Given the description of an element on the screen output the (x, y) to click on. 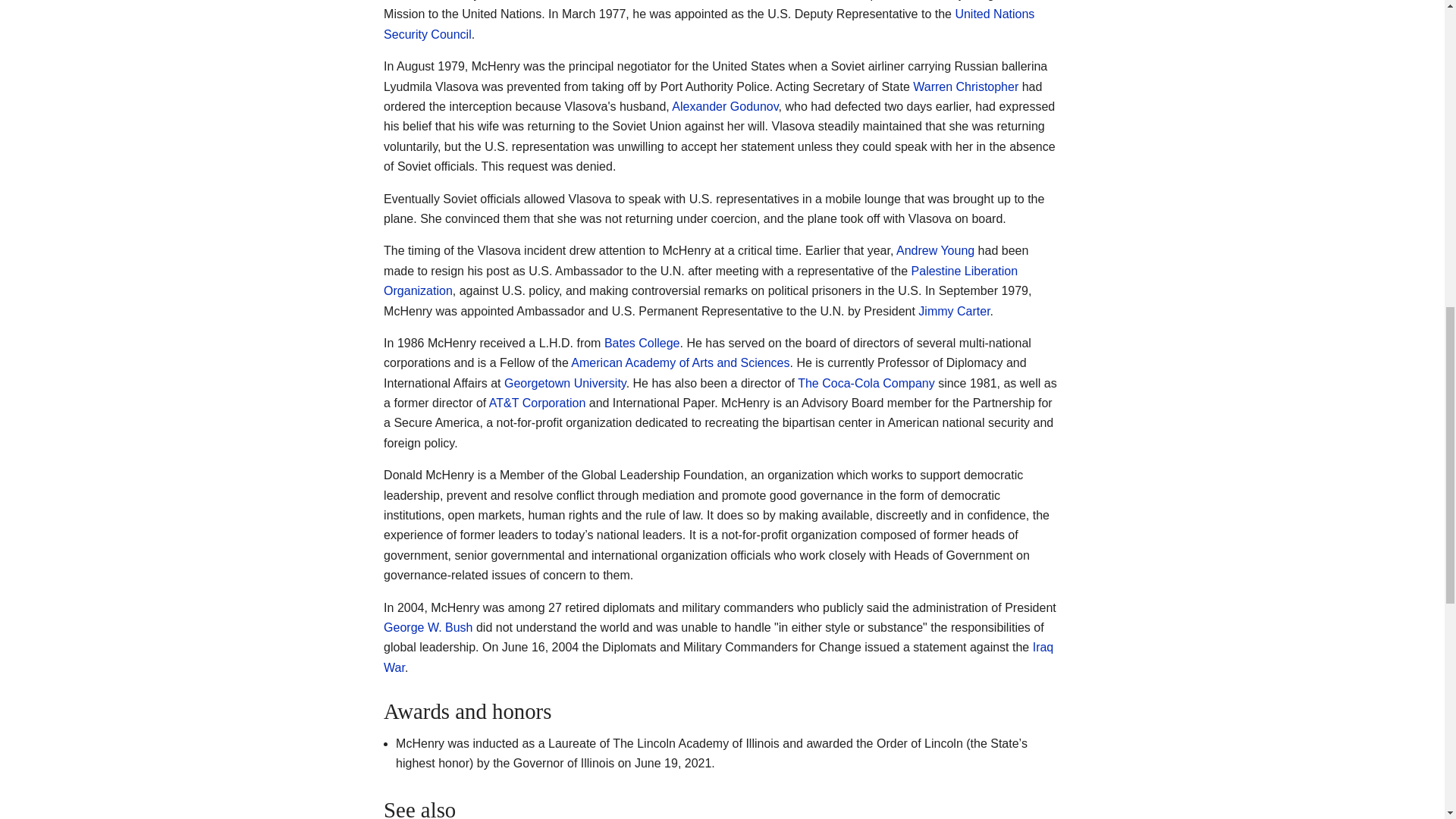
United Nations Security Council (708, 23)
American Academy of Arts and Sciences (679, 362)
Andrew Young (935, 250)
Alexander Godunov (724, 106)
Georgetown University (564, 382)
Palestine Liberation Organization (700, 280)
The Coca-Cola Company (865, 382)
Bates College (641, 342)
Warren Christopher (964, 86)
Jimmy Carter (954, 310)
